Given the description of an element on the screen output the (x, y) to click on. 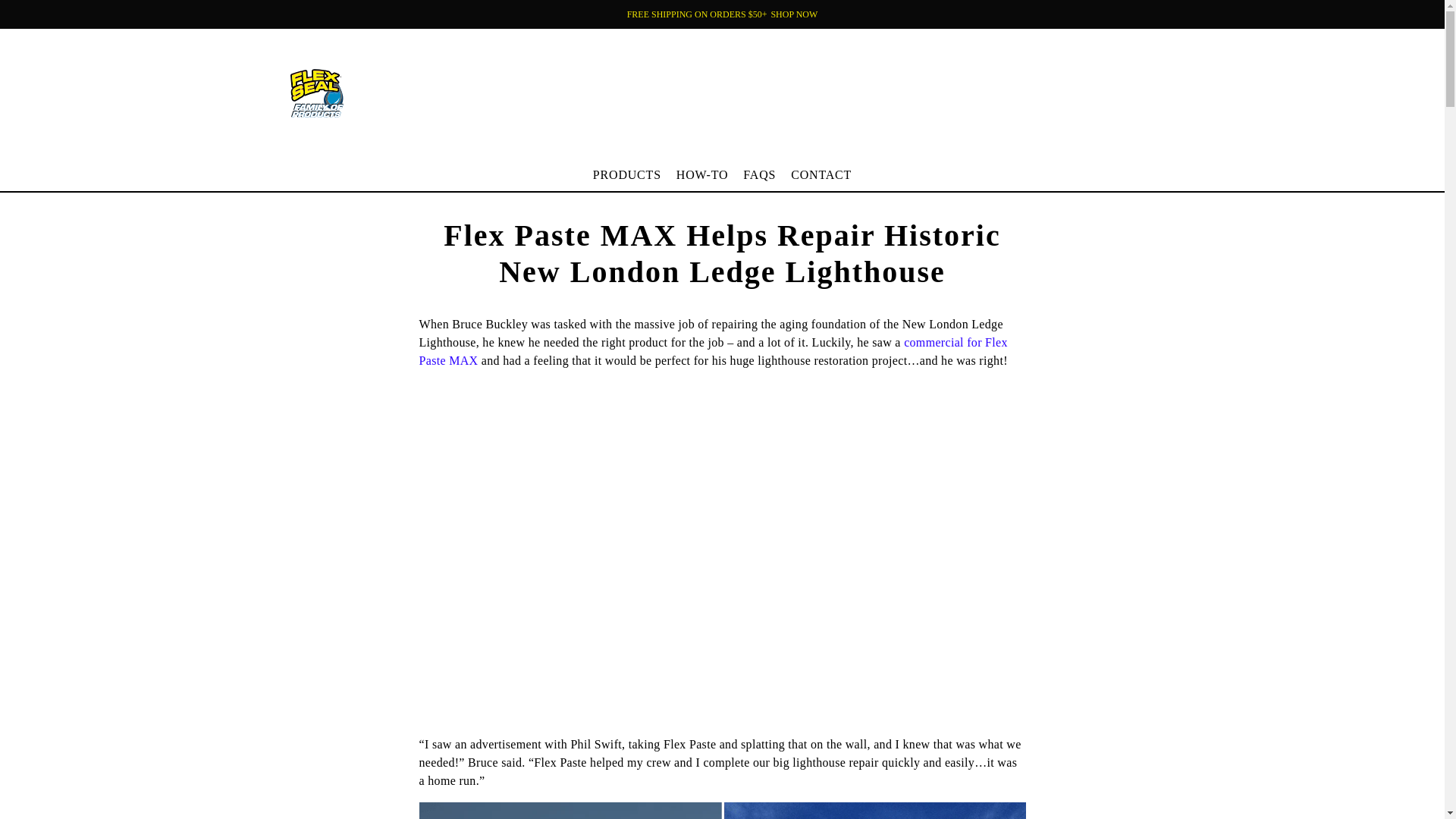
FAQS (598, 143)
commercial for Flex Paste MAX (759, 178)
HOW-TO (713, 350)
SHOP NOW (702, 178)
CONTACT (793, 13)
PRODUCTS (821, 178)
